Given the description of an element on the screen output the (x, y) to click on. 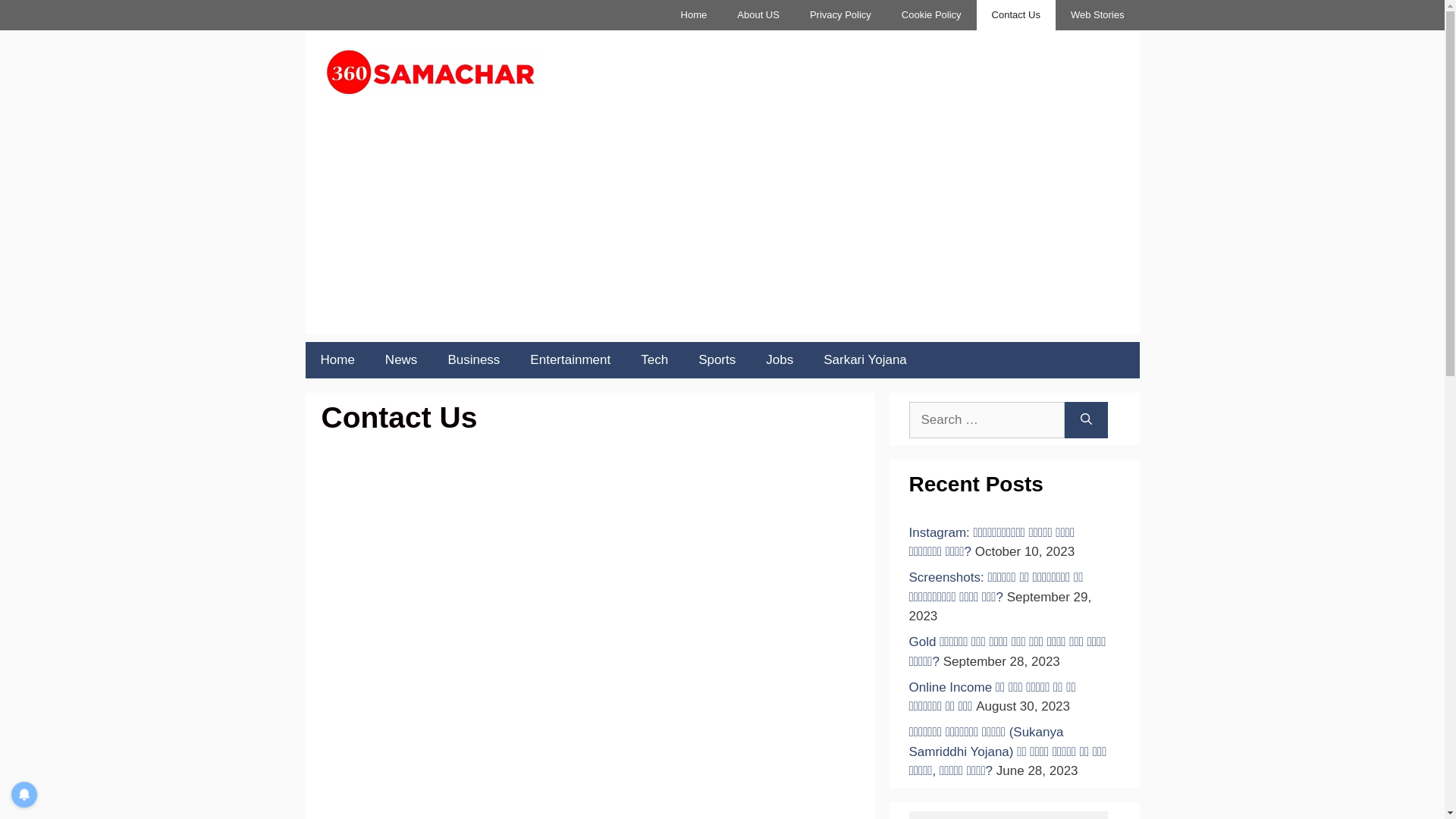
Advertisement Element type: hover (721, 228)
Home Element type: text (336, 360)
Privacy Policy Element type: text (840, 15)
Business Element type: text (473, 360)
Web Stories Element type: text (1097, 15)
Sarkari Yojana Element type: text (865, 360)
Search for: Element type: hover (985, 419)
News Element type: text (401, 360)
Tech Element type: text (654, 360)
About US Element type: text (757, 15)
Contact Us Element type: text (1015, 15)
Entertainment Element type: text (569, 360)
 Webpushr Element type: text (30, 765)
Home Element type: text (693, 15)
Sports Element type: text (716, 360)
Jobs Element type: text (779, 360)
Cookie Policy Element type: text (931, 15)
